Given the description of an element on the screen output the (x, y) to click on. 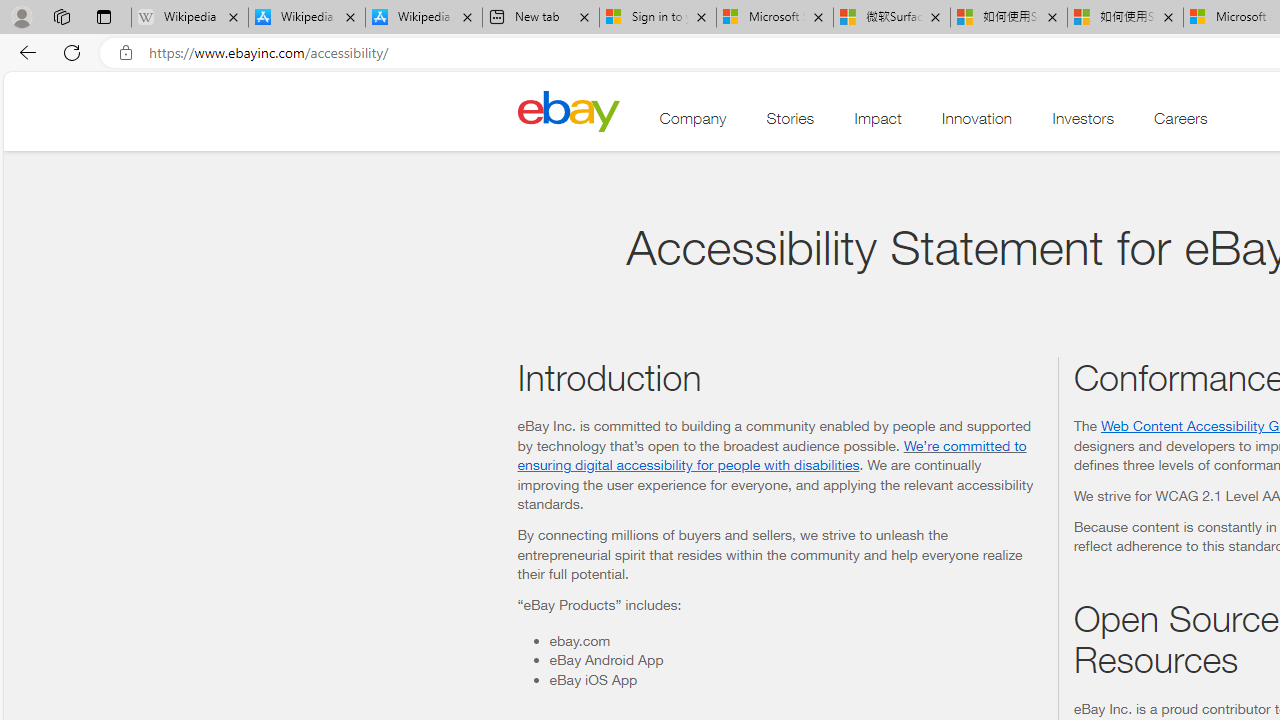
Company (693, 123)
Investors (1083, 123)
Innovation (976, 123)
Careers (1181, 123)
Careers (1181, 123)
Innovation (976, 123)
eBay iOS App (795, 678)
